Given the description of an element on the screen output the (x, y) to click on. 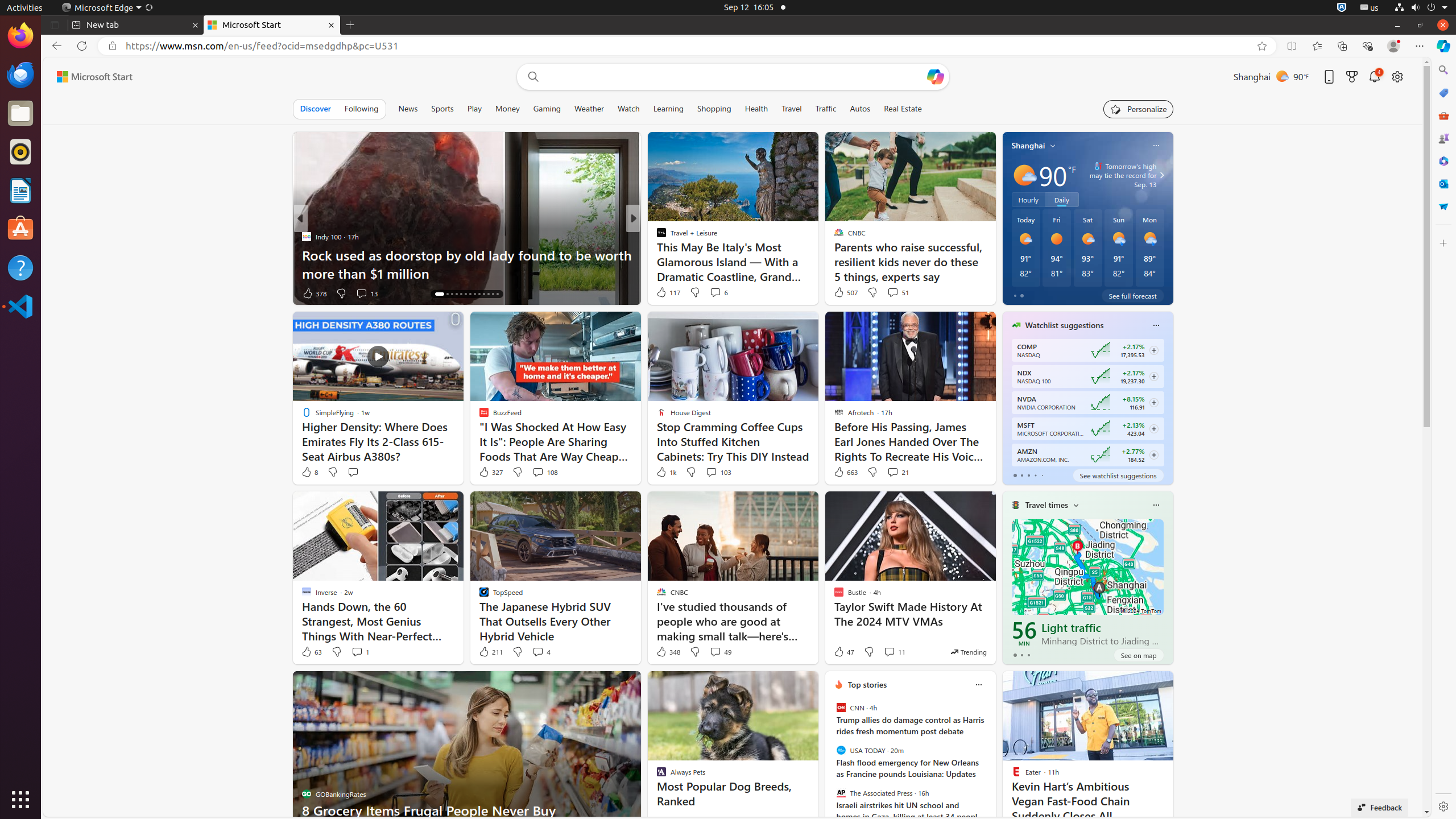
Hide this story Element type: push-button (1138, 684)
Refresh Element type: push-button (81, 45)
Weather forecast Mon High temperature 89° Low temperature 84° Element type: link (1149, 247)
Shanghai: Mostly sunny, 90 °F Element type: link (1270, 76)
317 Like Element type: toggle-button (664, 292)
